Given the description of an element on the screen output the (x, y) to click on. 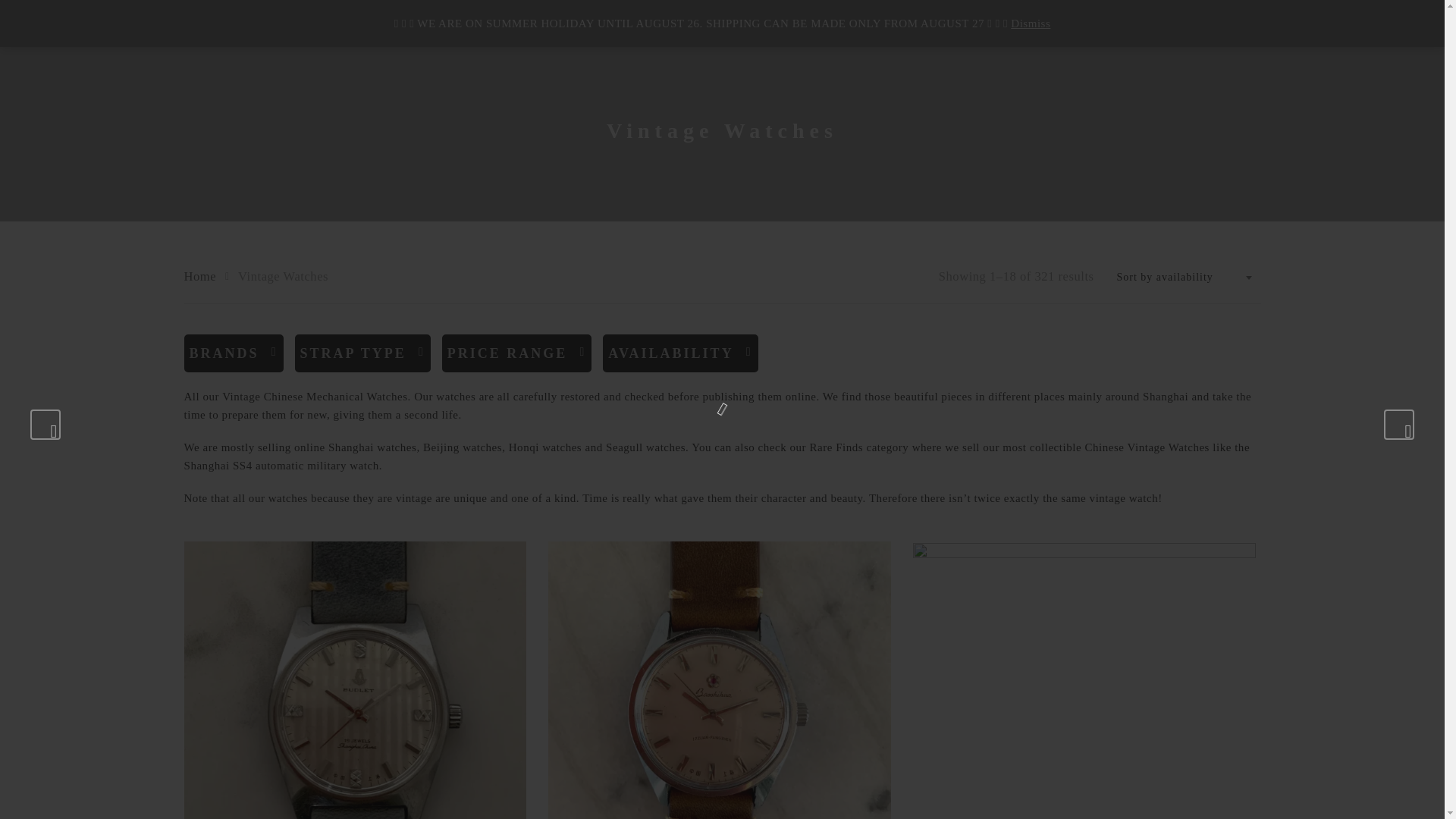
Vintage Watches (605, 23)
Straps (703, 23)
About (774, 23)
Contact (848, 23)
Sort by availability (1184, 277)
Rare Finds (495, 23)
NEOBIAO (66, 23)
